Given the description of an element on the screen output the (x, y) to click on. 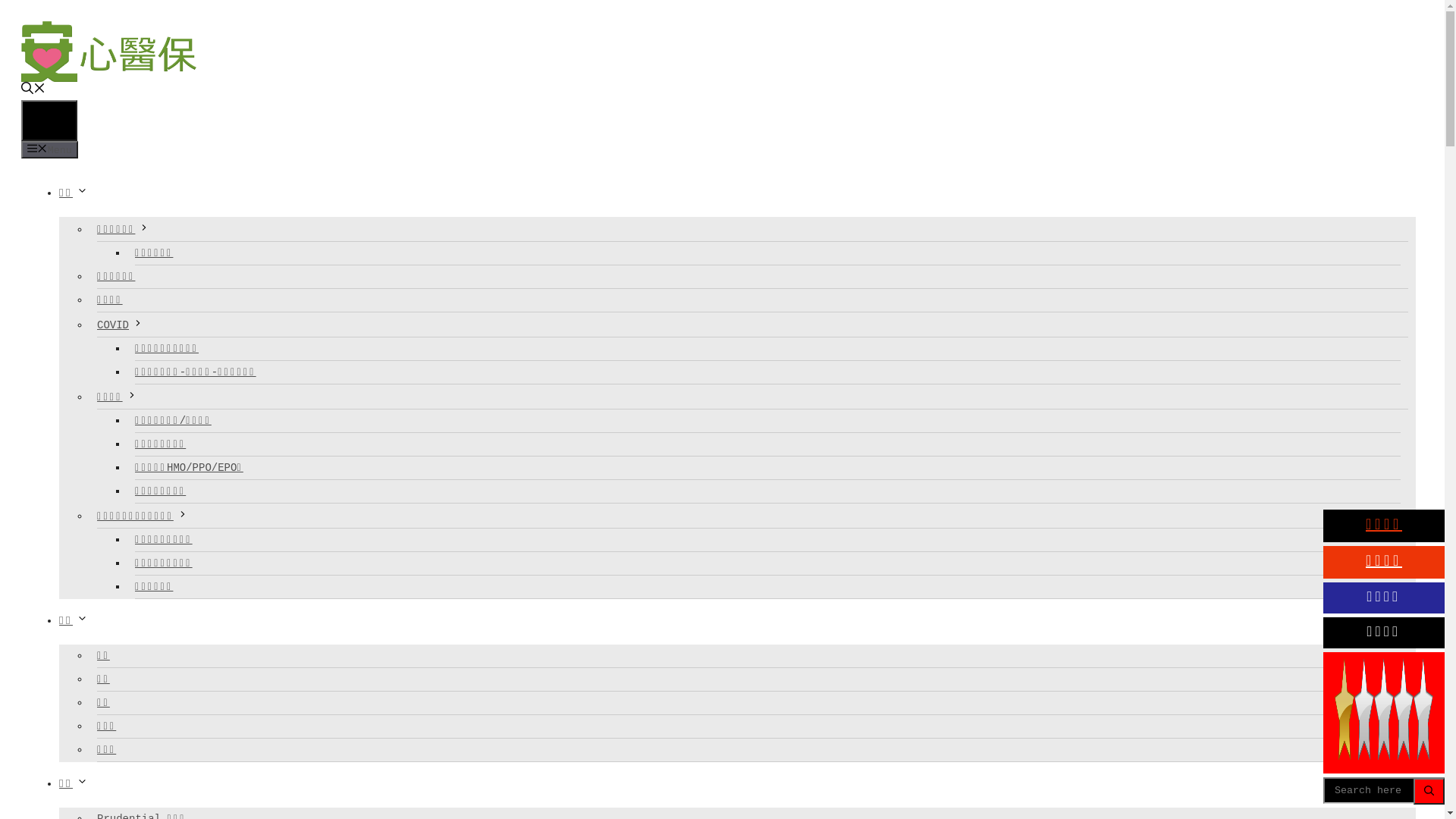
Menu Element type: text (49, 120)
Menu Element type: text (49, 149)
Skip to content Element type: text (5, 5)
COVID Element type: text (752, 324)
